Given the description of an element on the screen output the (x, y) to click on. 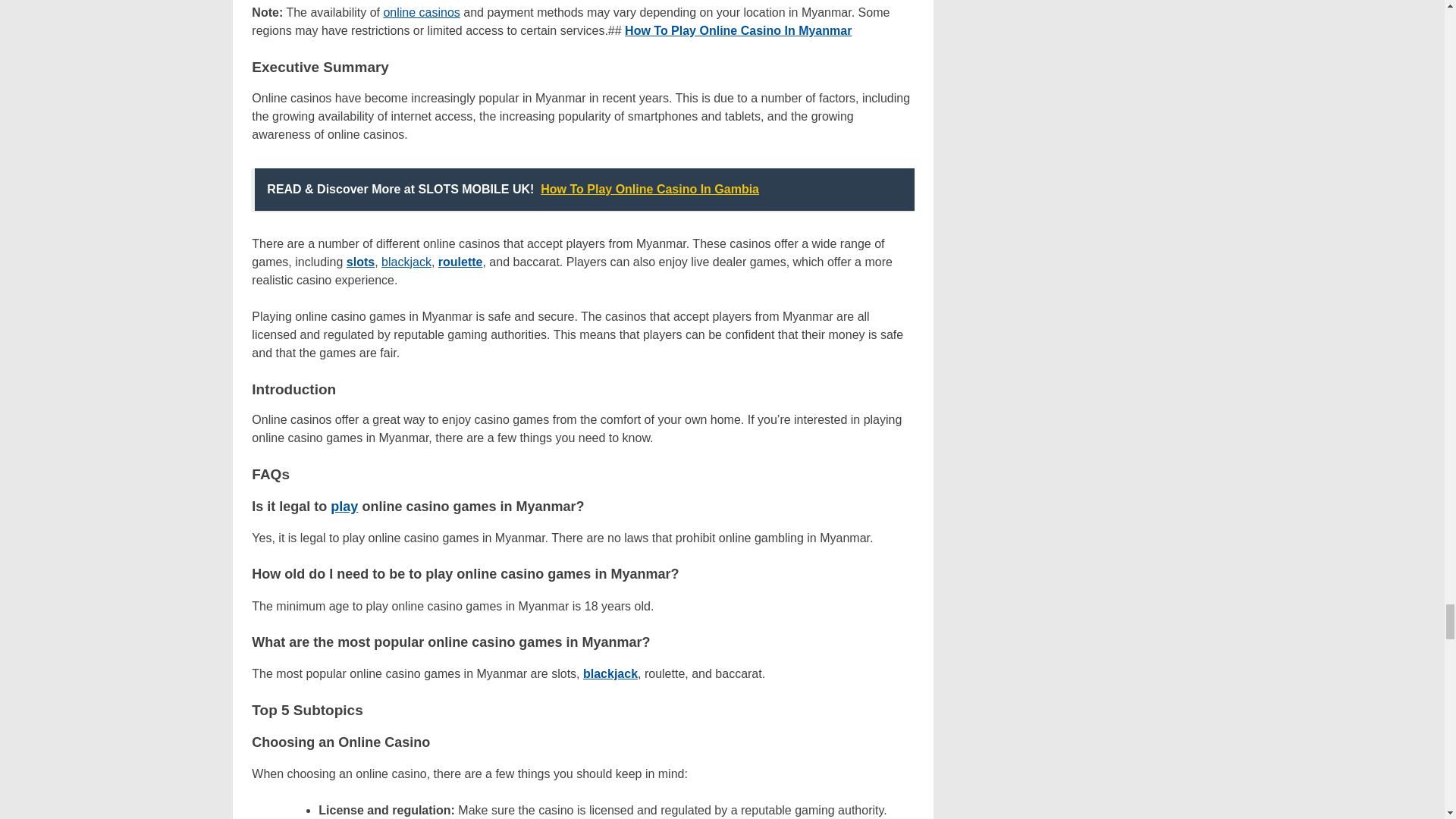
How To Play Online Casino In Myanmar (737, 30)
How To Play Online Casino In Myanmar (737, 30)
slots (360, 261)
blackjack (610, 673)
play (344, 506)
blackjack (405, 261)
online casinos (421, 11)
online casinos (421, 11)
roulette (460, 261)
Slots (360, 261)
